Given the description of an element on the screen output the (x, y) to click on. 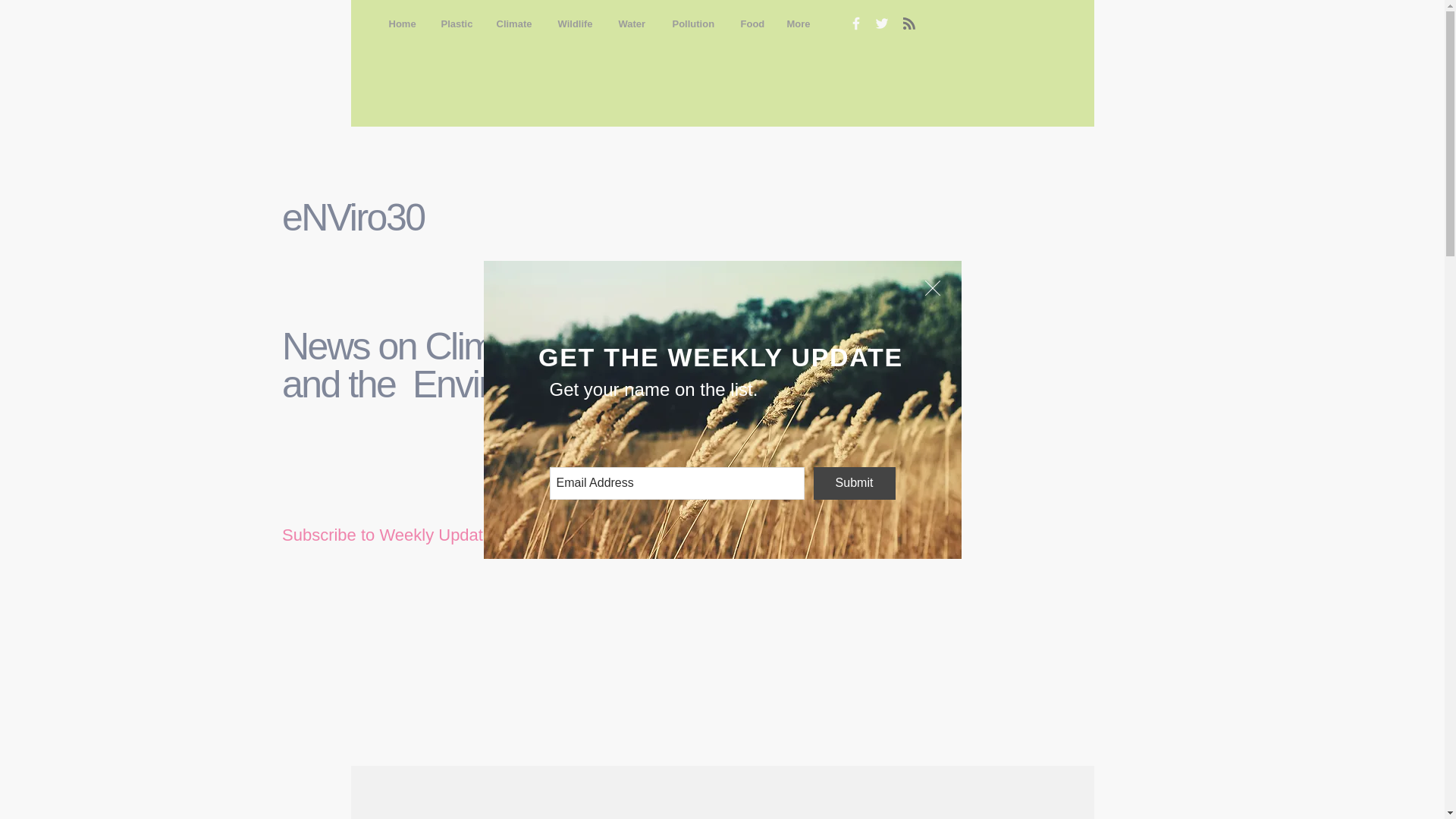
Plastic (456, 24)
eNViro30  (357, 217)
Water (634, 24)
Food (752, 24)
Pollution (695, 24)
Back to site (932, 287)
News on Climate Change, Sustainability and the  Environment (582, 365)
Climate (515, 24)
Subscribe to Weekly Updates (391, 534)
Home (403, 24)
Wildlife (576, 24)
